Given the description of an element on the screen output the (x, y) to click on. 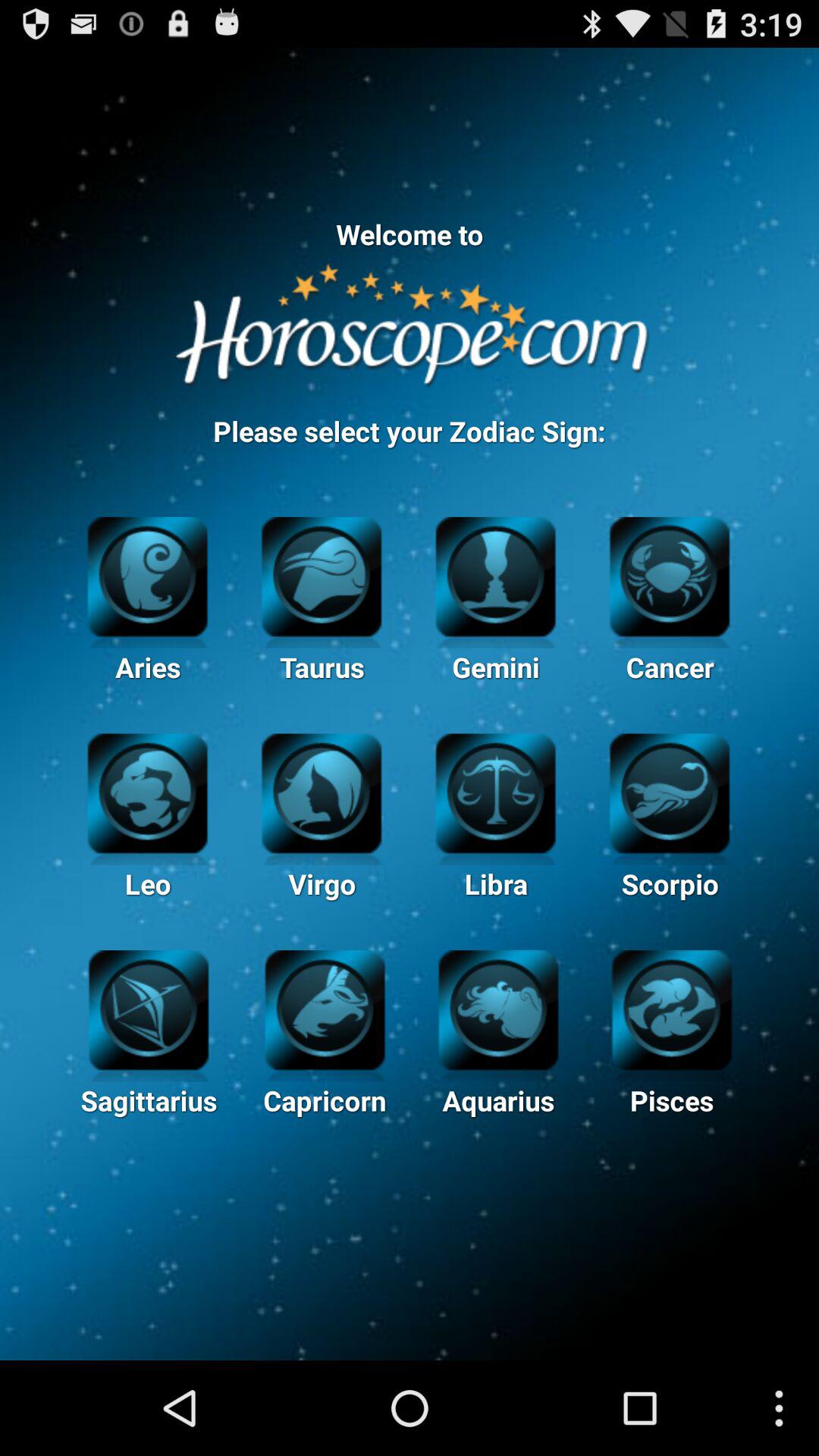
aquarium button (498, 1007)
